Given the description of an element on the screen output the (x, y) to click on. 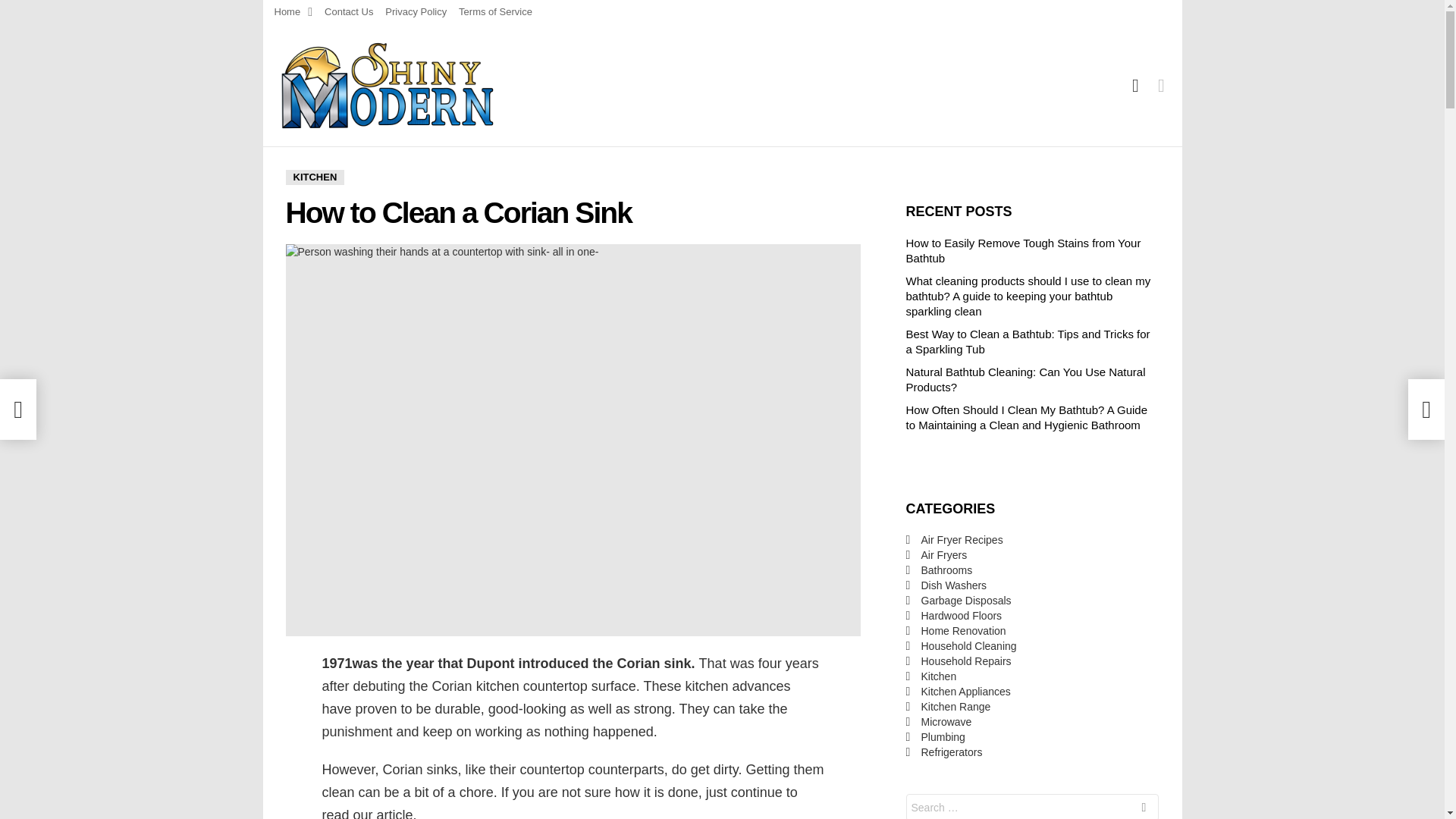
Terms of Service (495, 12)
KITCHEN (314, 177)
Home (294, 12)
Contact Us (348, 12)
Privacy Policy (415, 12)
